Given the description of an element on the screen output the (x, y) to click on. 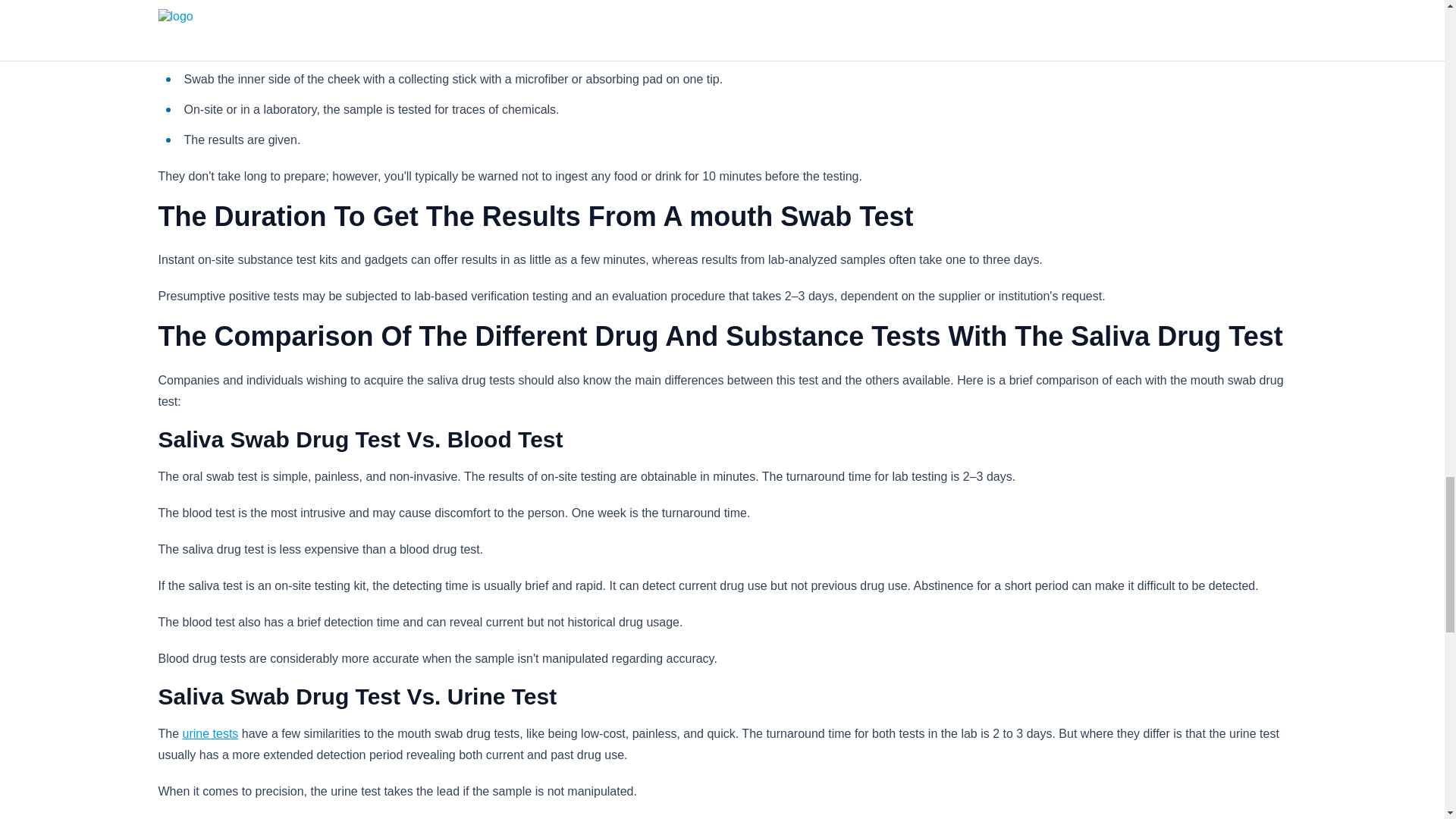
urine tests (210, 733)
